Given the description of an element on the screen output the (x, y) to click on. 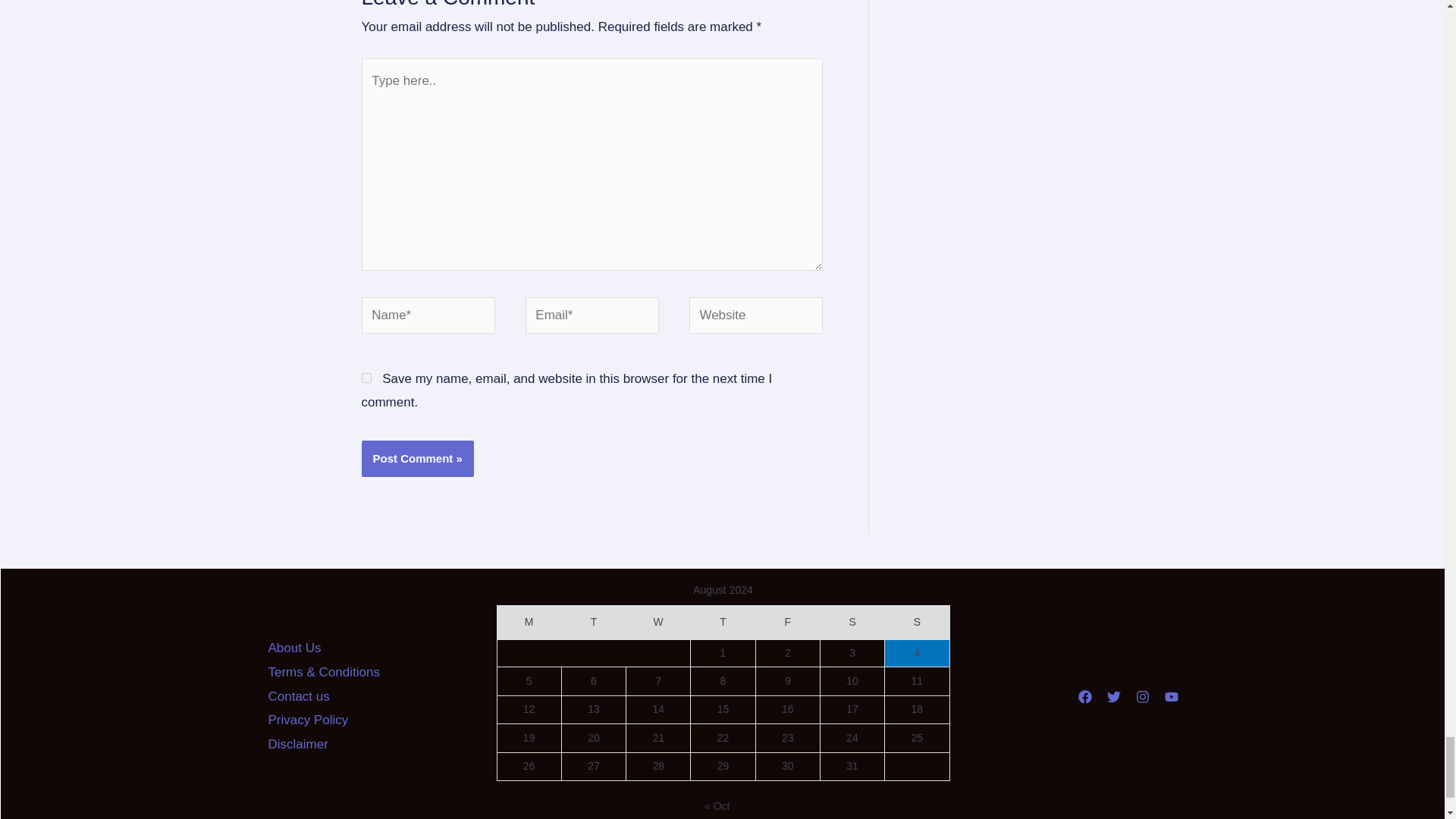
Friday (787, 622)
Saturday (851, 622)
Wednesday (658, 622)
Monday (528, 622)
yes (366, 378)
Sunday (917, 622)
Tuesday (593, 622)
Thursday (722, 622)
